Given the description of an element on the screen output the (x, y) to click on. 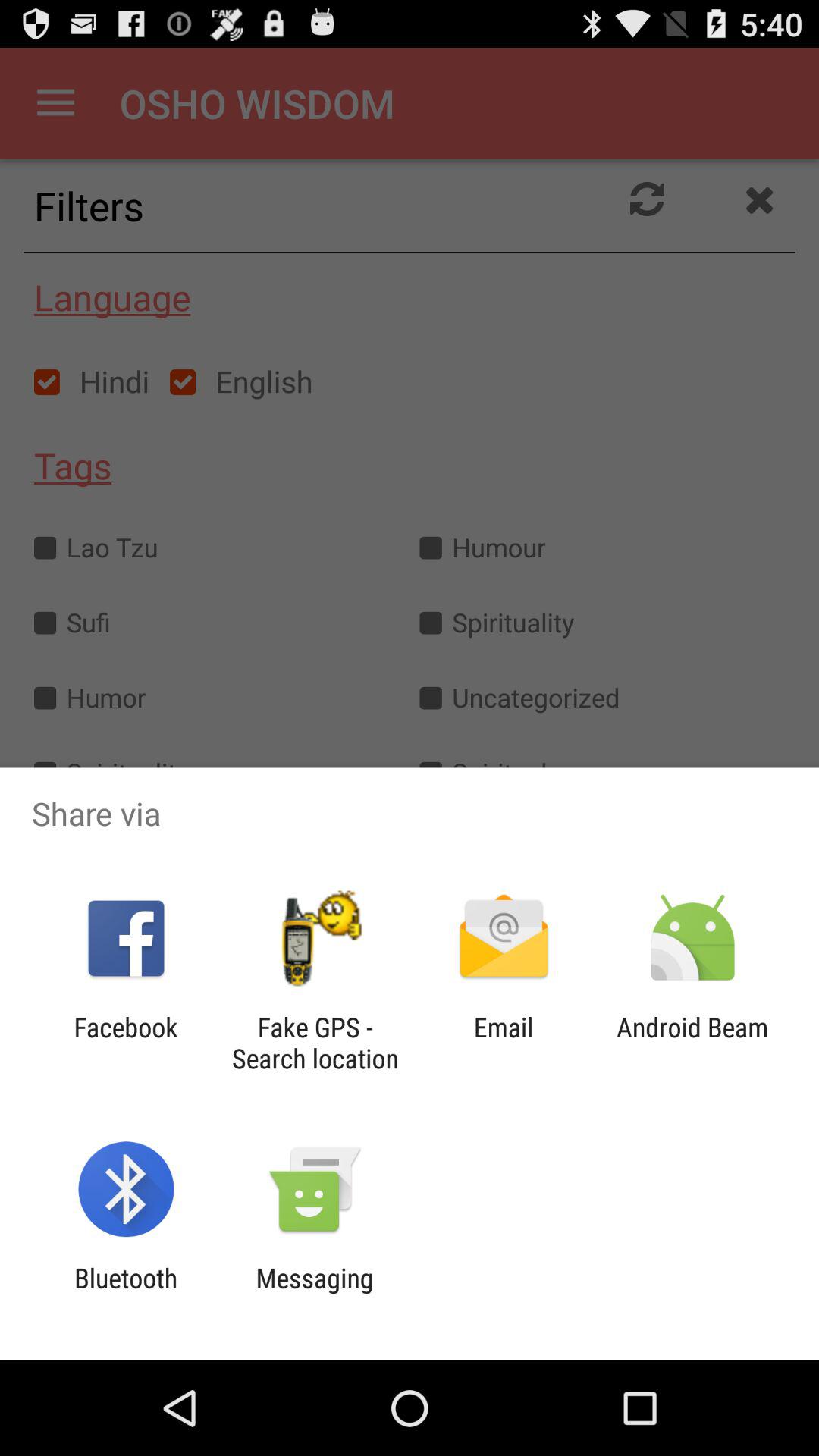
select the fake gps search (314, 1042)
